Given the description of an element on the screen output the (x, y) to click on. 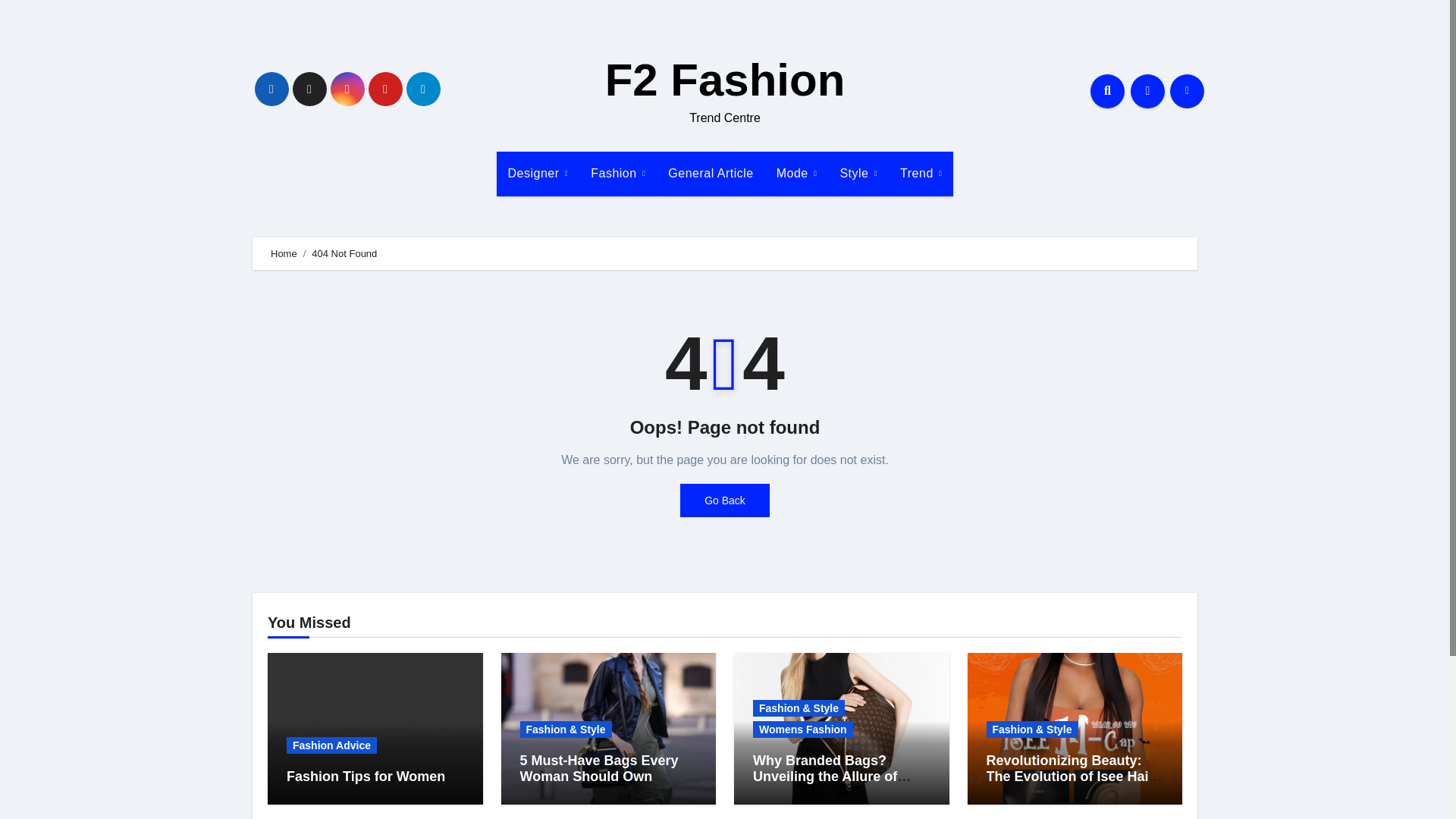
General Article (710, 173)
Designer (537, 173)
F2 Fashion (725, 79)
Designer (537, 173)
Mode (796, 173)
Mode (796, 173)
Go Back (724, 500)
General Article (710, 173)
Style (858, 173)
Trend (920, 173)
Fashion (617, 173)
Home (283, 253)
Fashion (617, 173)
Style (858, 173)
